Given the description of an element on the screen output the (x, y) to click on. 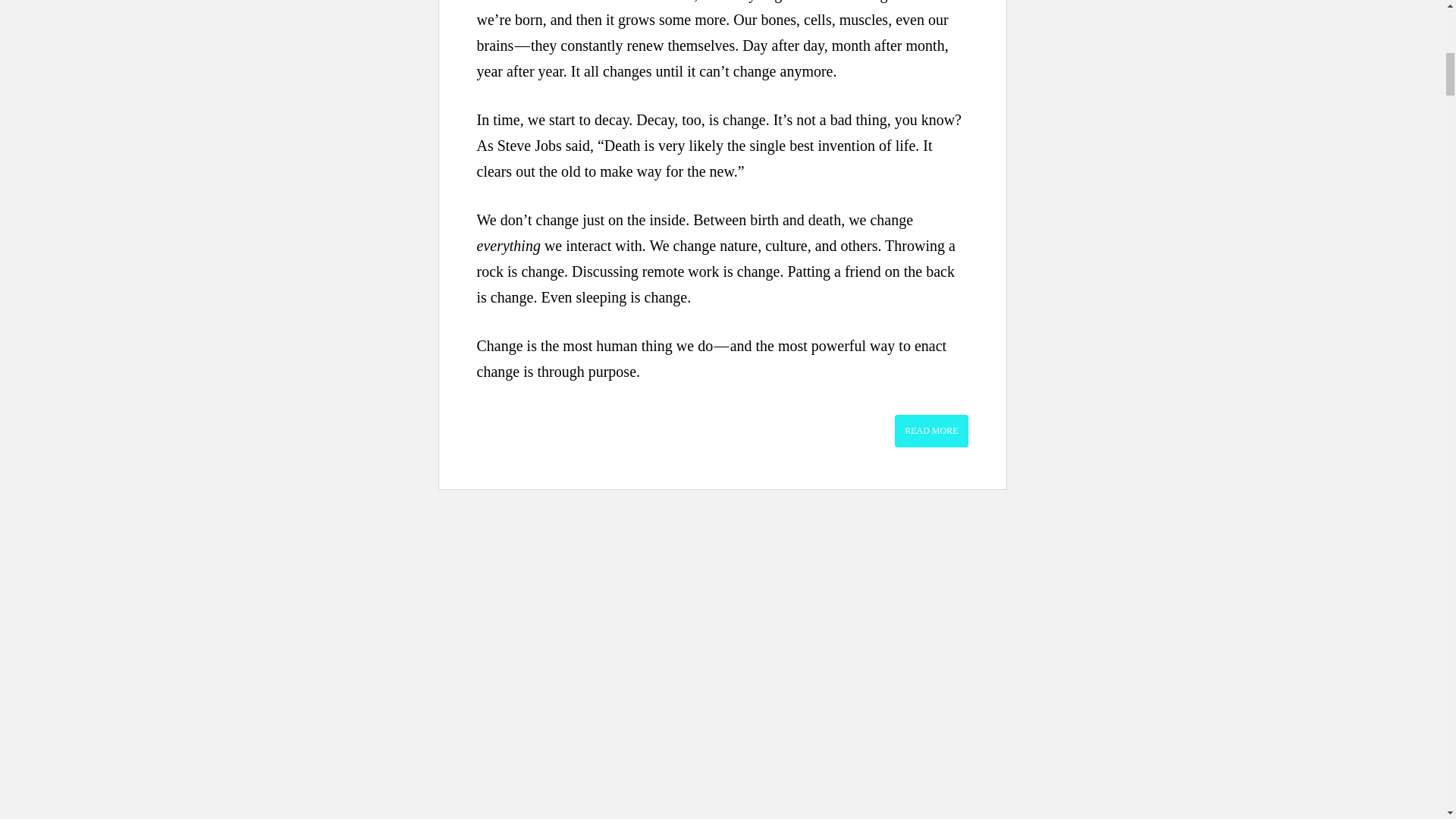
READ MORE (931, 430)
